Given the description of an element on the screen output the (x, y) to click on. 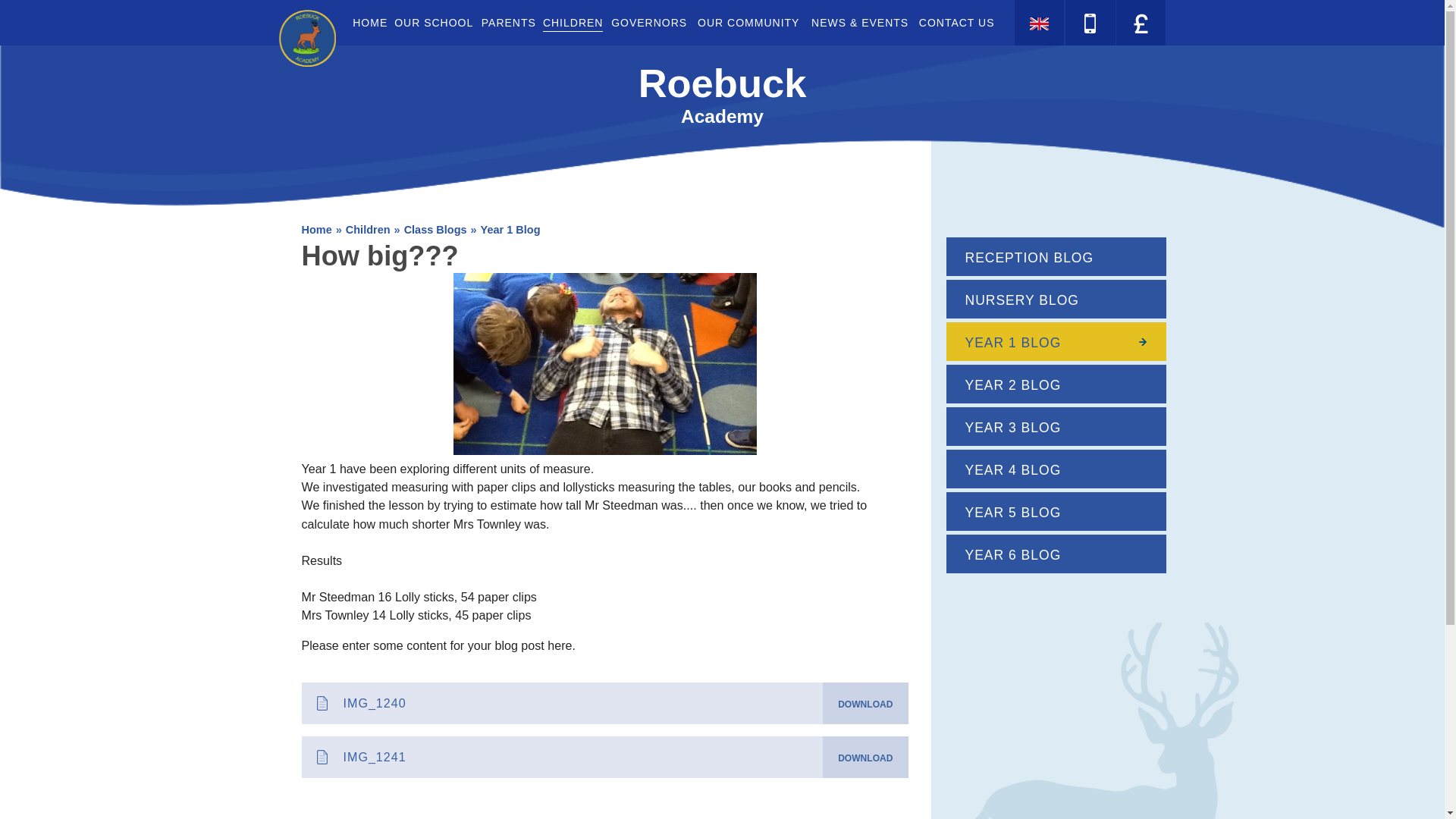
OUR SCHOOL (434, 22)
HOME (369, 22)
